Given the description of an element on the screen output the (x, y) to click on. 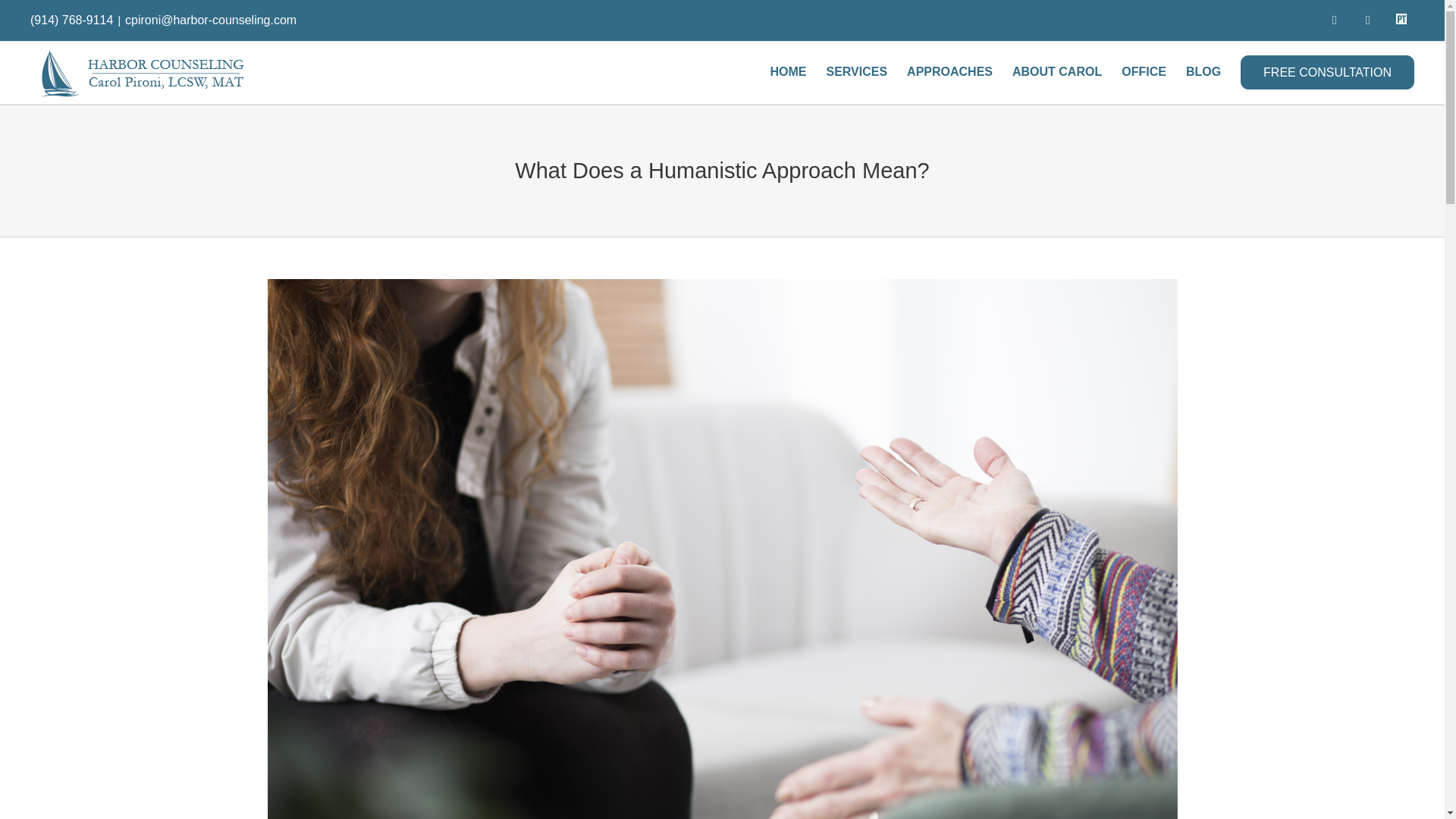
Psychology Today (1401, 18)
SERVICES (855, 71)
Psychology Today (1401, 18)
ABOUT CAROL (1056, 71)
APPROACHES (949, 71)
Facebook (1335, 20)
Email (1367, 20)
Email (1367, 20)
Facebook (1335, 20)
